Given the description of an element on the screen output the (x, y) to click on. 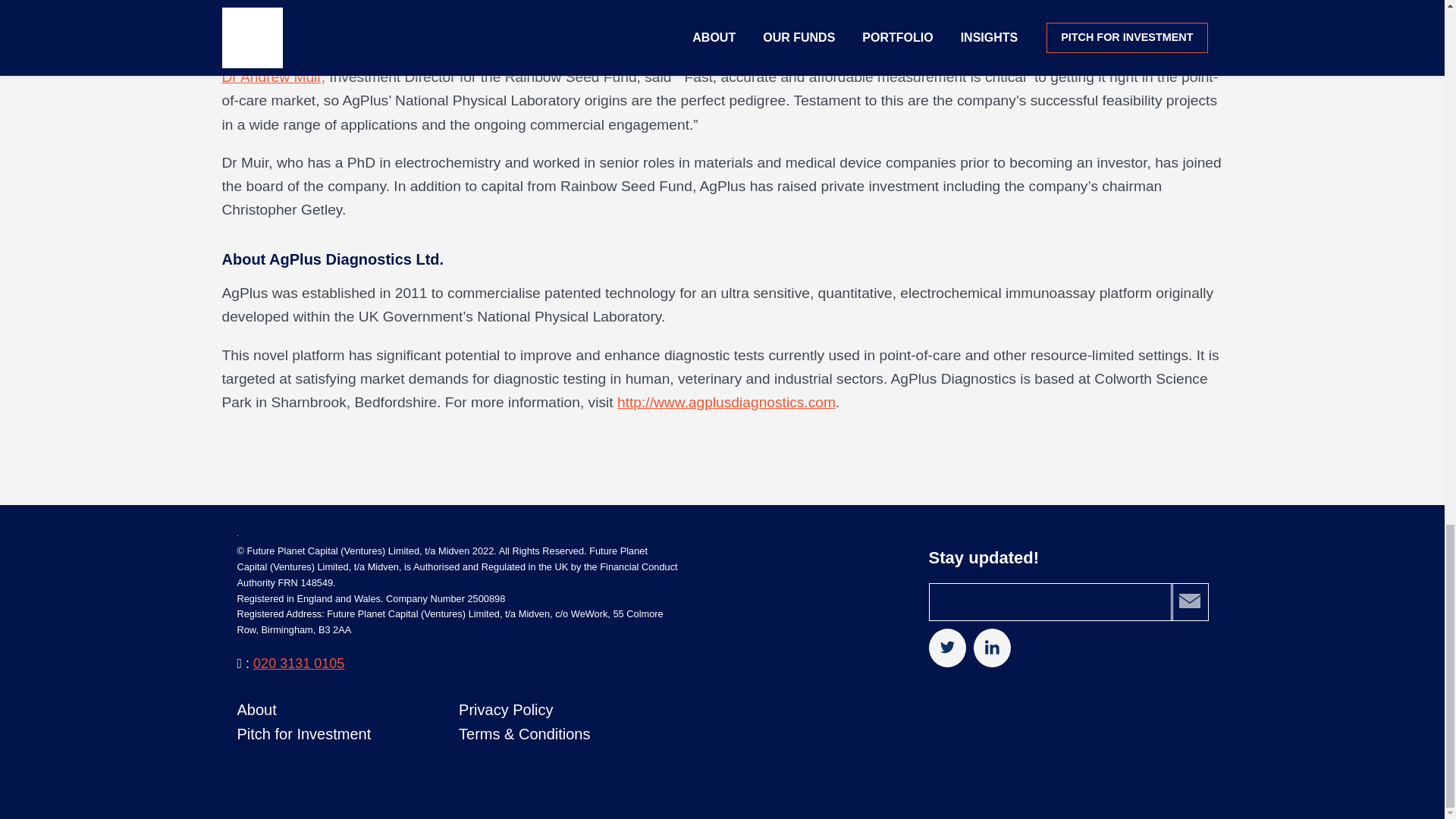
Dr Andrew Muir, (272, 76)
Privacy Policy (505, 709)
020 3131 0105 (298, 663)
About (255, 709)
Digital Glue (293, 780)
Pitch for Investment (303, 733)
